Given the description of an element on the screen output the (x, y) to click on. 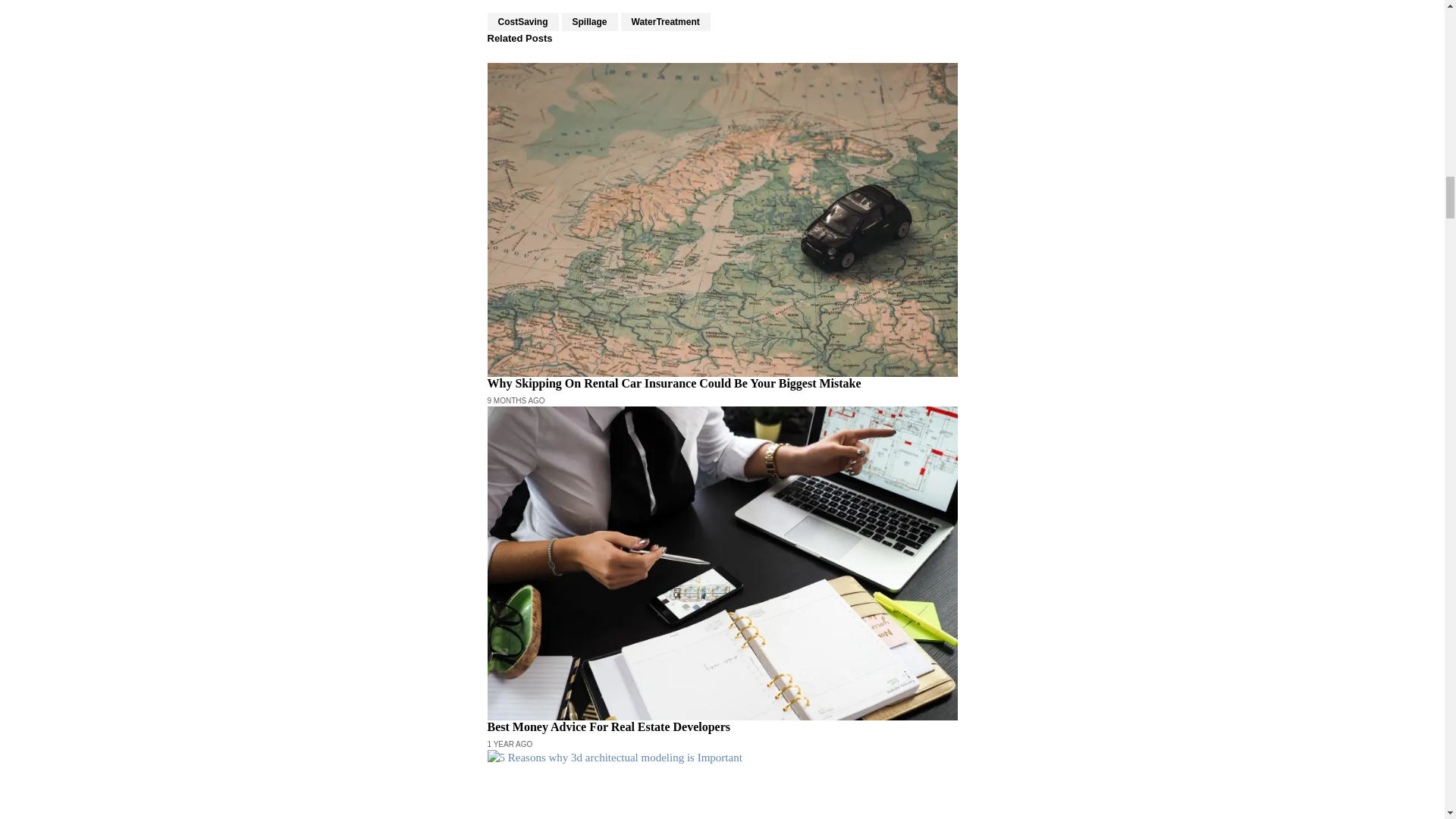
02 Mar, 2023 12:32:59 (509, 744)
28 Oct, 2023 04:05:14 (515, 400)
